Given the description of an element on the screen output the (x, y) to click on. 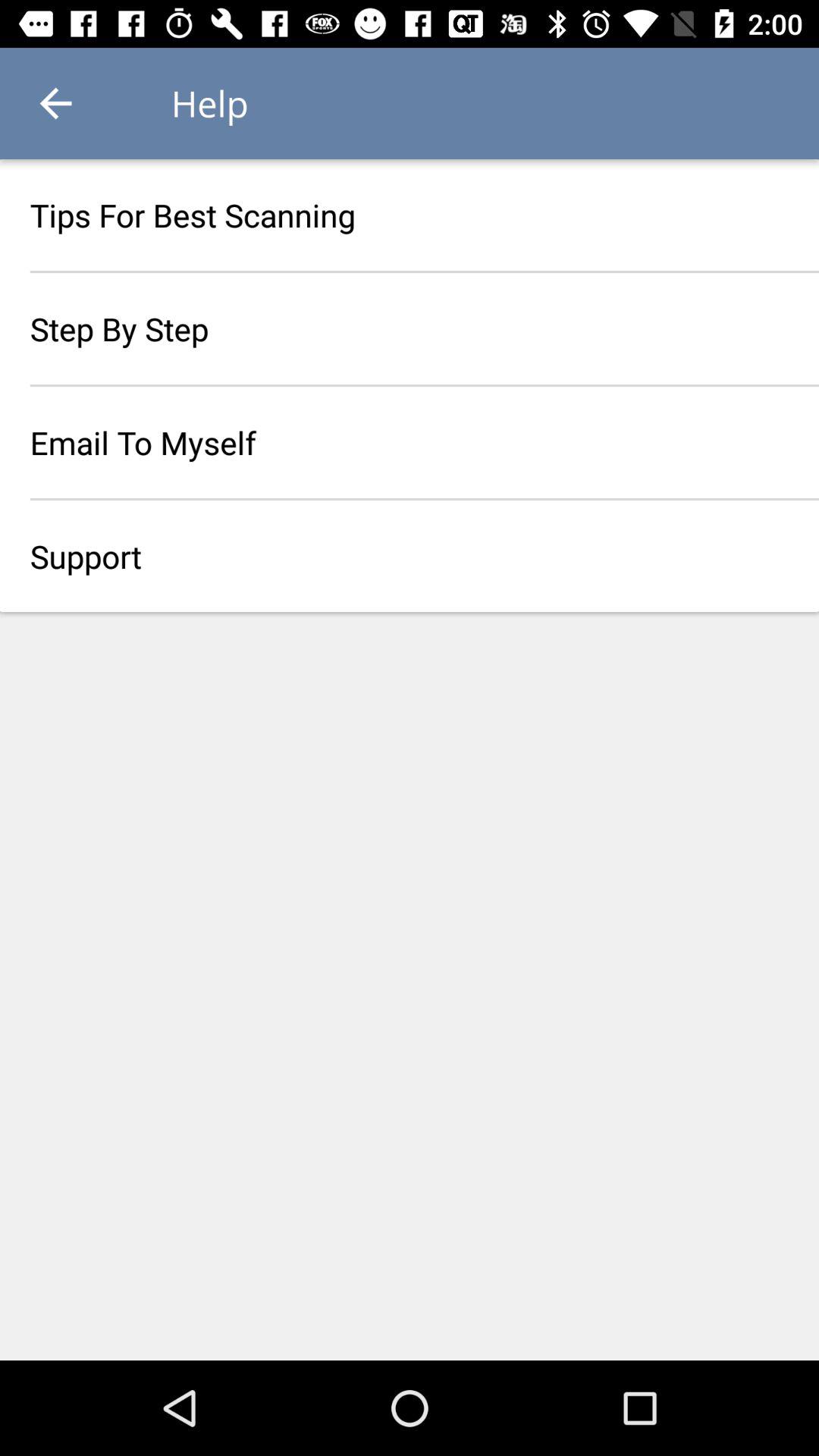
tap tips for best icon (409, 214)
